Given the description of an element on the screen output the (x, y) to click on. 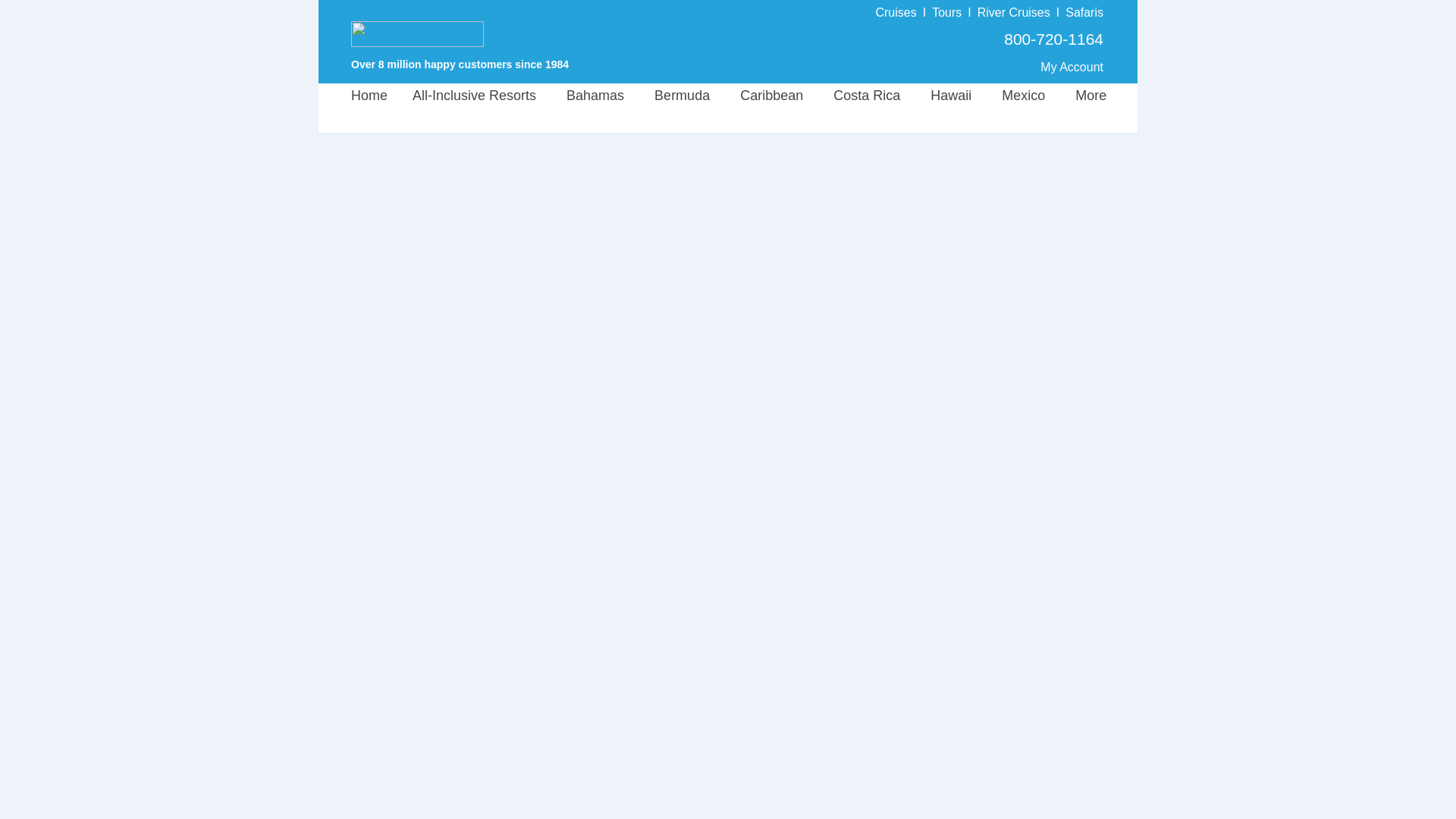
  Hawaii (955, 95)
  Bermuda (687, 95)
Cruises (895, 11)
  Costa Rica (872, 95)
  Bahamas (600, 95)
All-Inclusive Resorts (483, 95)
My Account (1072, 66)
Safaris (1084, 11)
Home (378, 95)
Tours (945, 11)
